Given the description of an element on the screen output the (x, y) to click on. 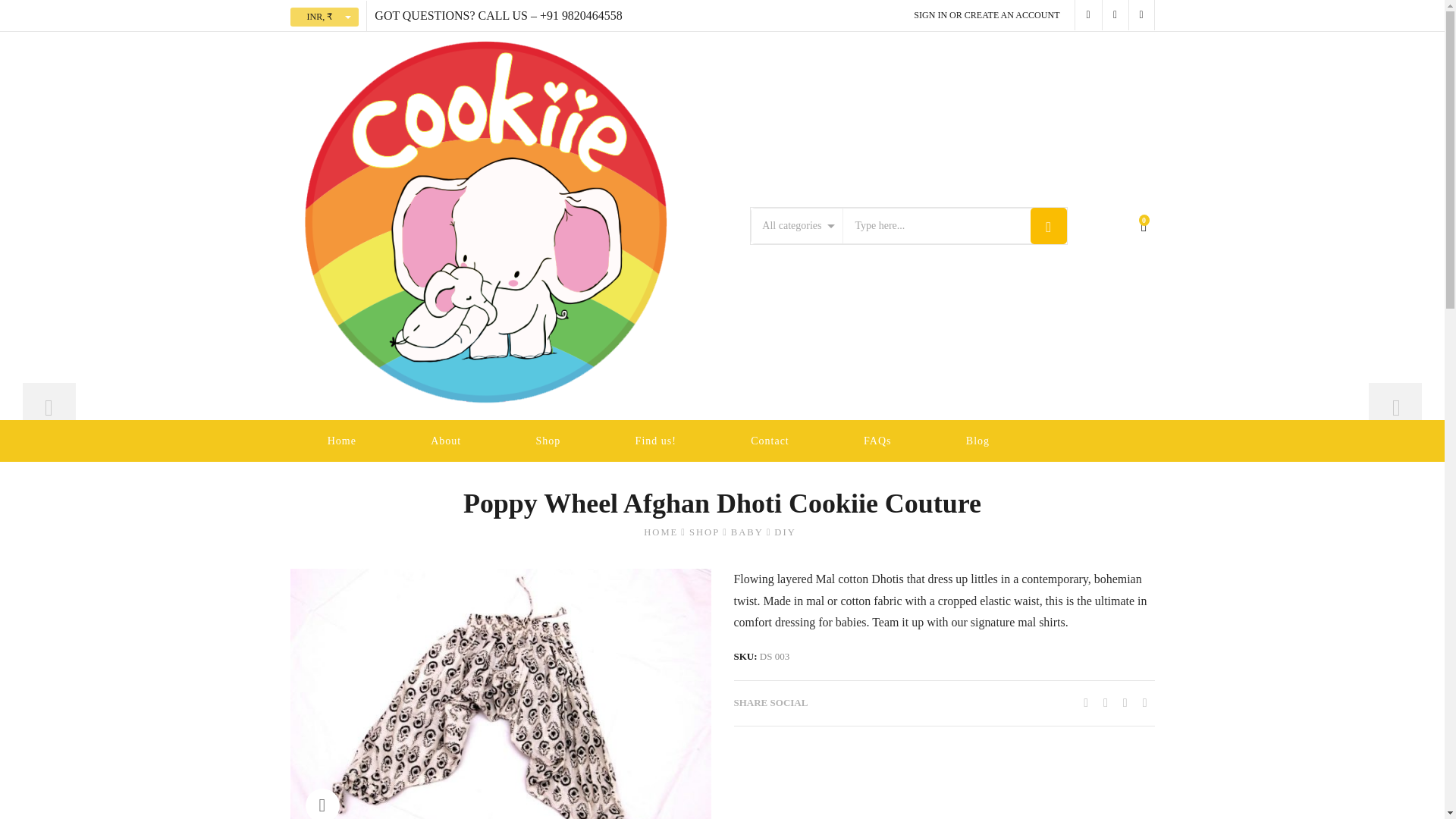
Facebook (1105, 702)
Twitter (1085, 702)
Pinterest (1125, 702)
dhoti-poppy (499, 693)
